Given the description of an element on the screen output the (x, y) to click on. 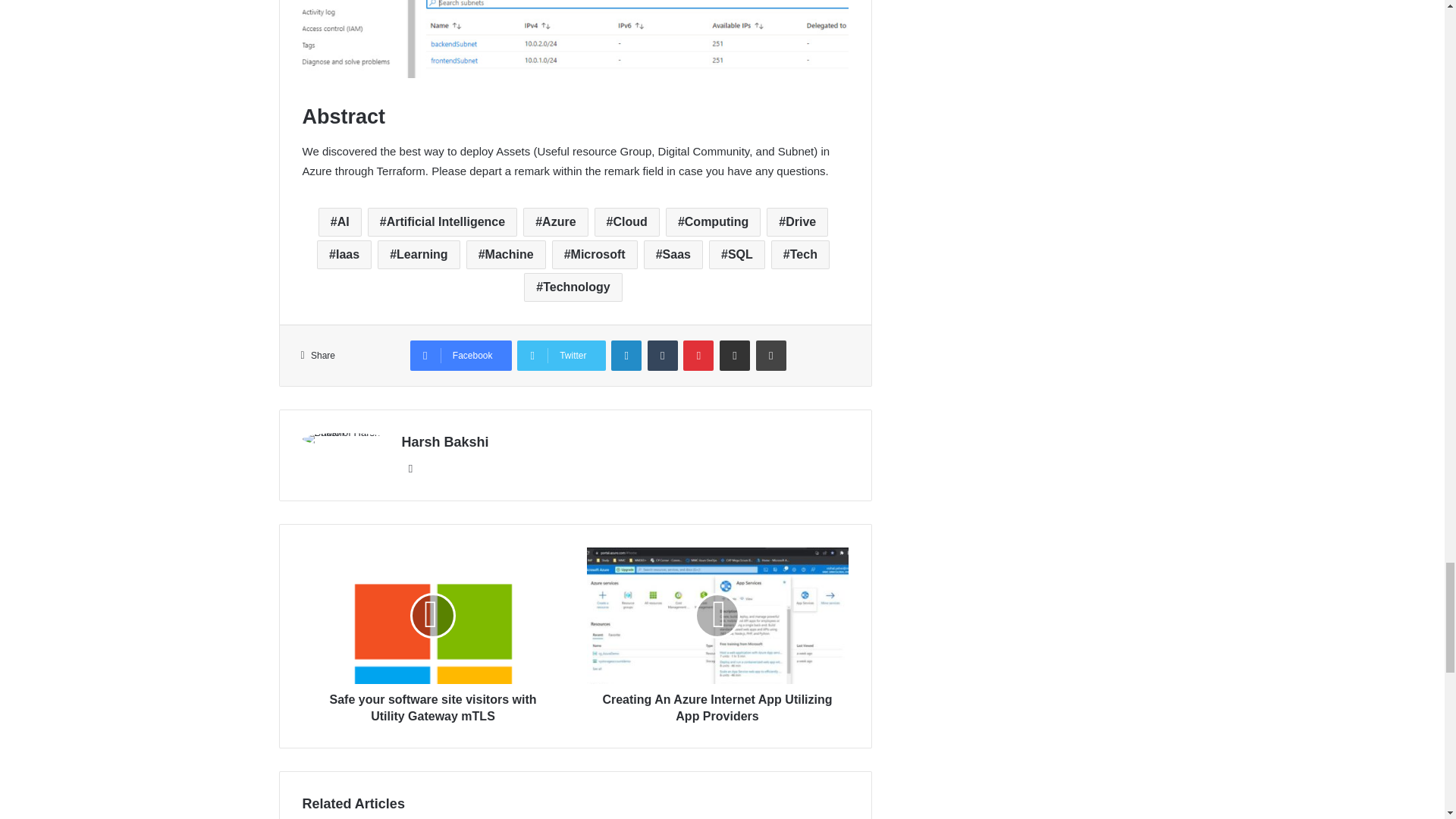
Microsoft (594, 254)
Twitter (560, 355)
Machine (505, 254)
Drive (797, 222)
Computing (712, 222)
AI (339, 222)
Azure (555, 222)
Cloud (626, 222)
Learning (418, 254)
Pinterest (697, 355)
Print (770, 355)
Iaas (344, 254)
Artificial Intelligence (442, 222)
Share via Email (734, 355)
Tumblr (662, 355)
